Given the description of an element on the screen output the (x, y) to click on. 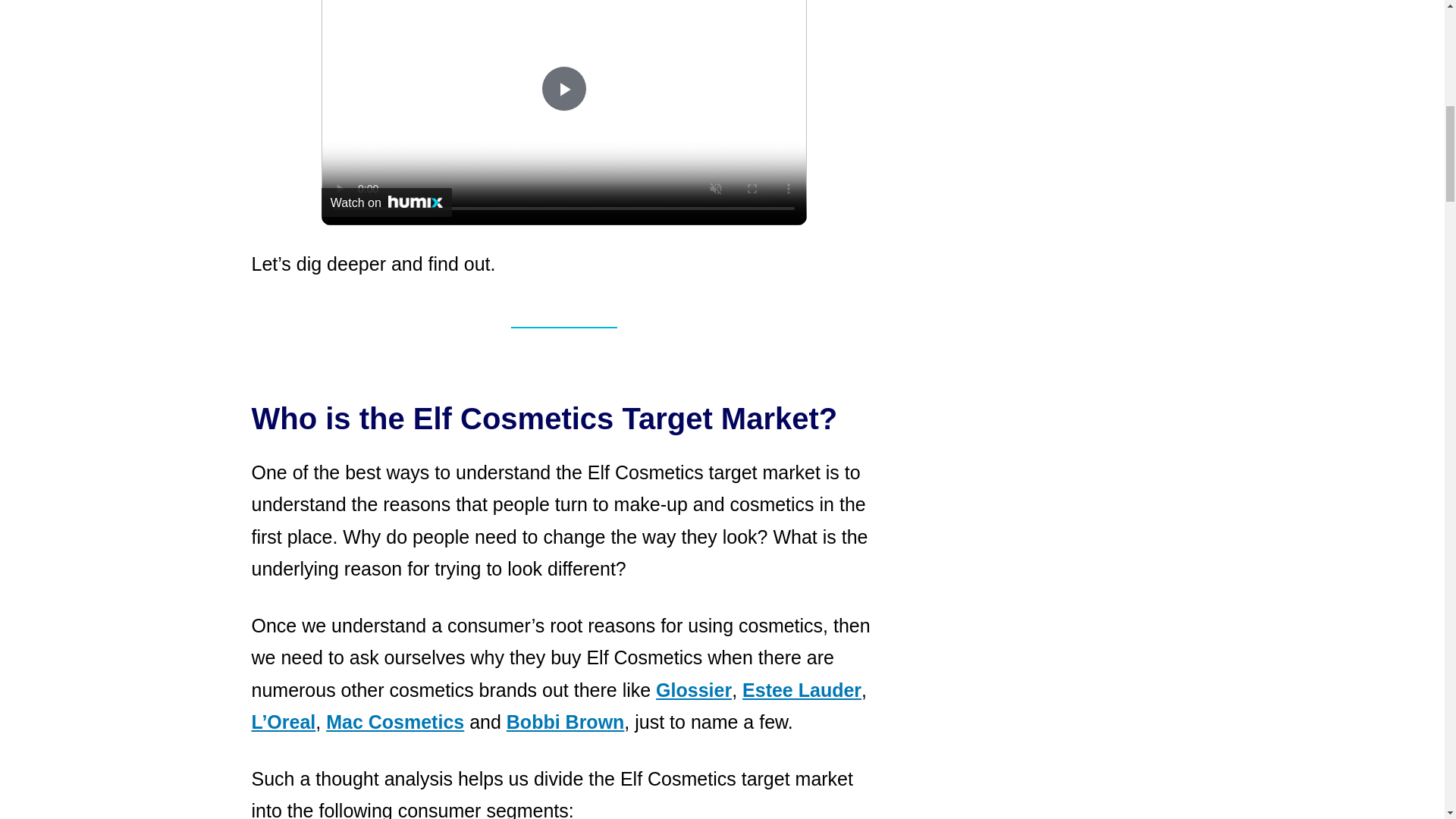
Play Video (563, 88)
Watch on (386, 202)
Estee Lauder (801, 690)
Glossier (694, 690)
Bobbi Brown (565, 721)
Play Video (563, 88)
Mac Cosmetics (395, 721)
